Given the description of an element on the screen output the (x, y) to click on. 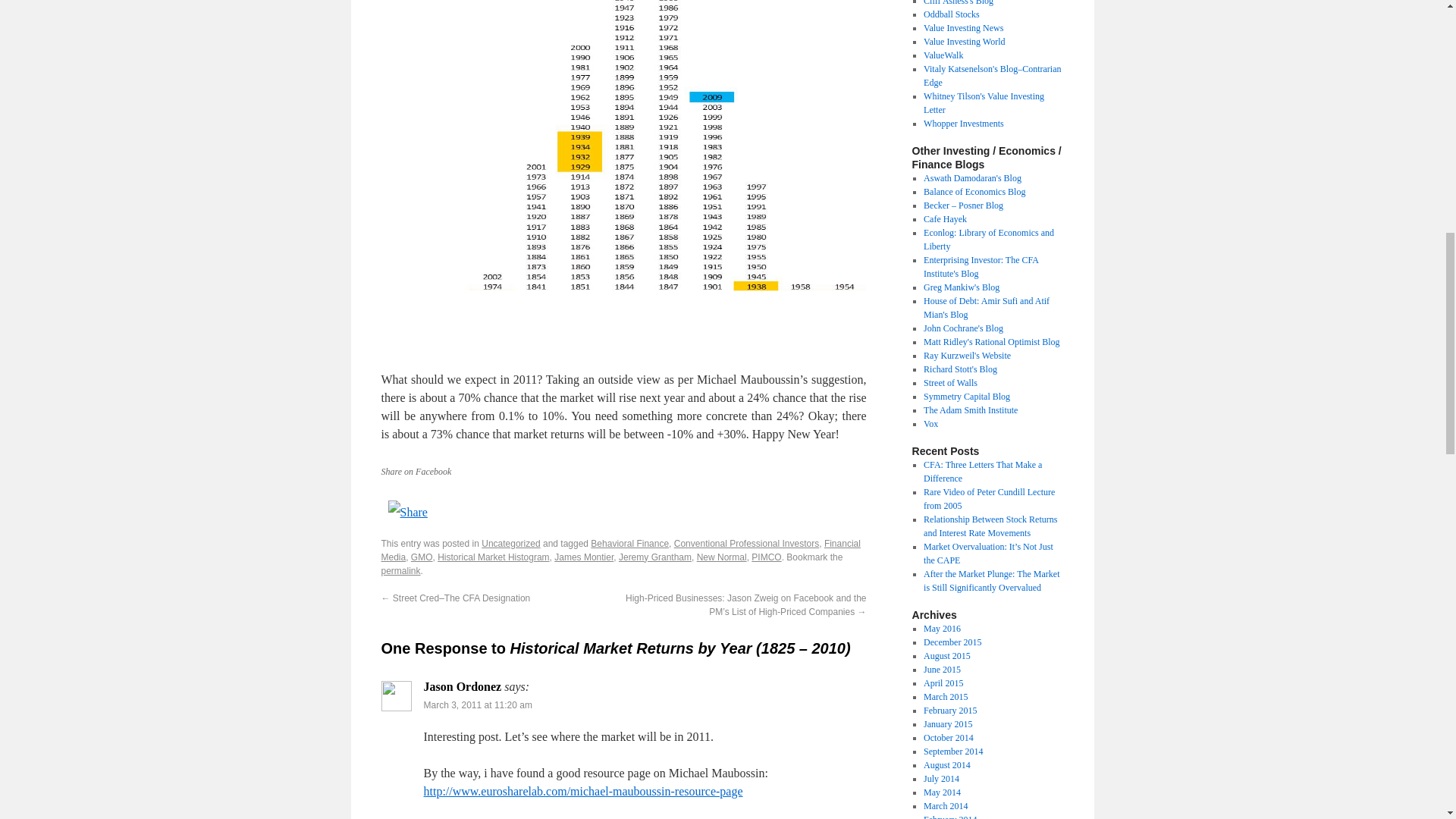
Jeremy Grantham (654, 557)
New Normal (721, 557)
Uncategorized (510, 543)
Conventional Professional Investors (746, 543)
Share on Facebook (415, 471)
PIMCO (765, 557)
March 3, 2011 at 11:20 am (477, 704)
Behavioral Finance (629, 543)
James Montier (583, 557)
